Given the description of an element on the screen output the (x, y) to click on. 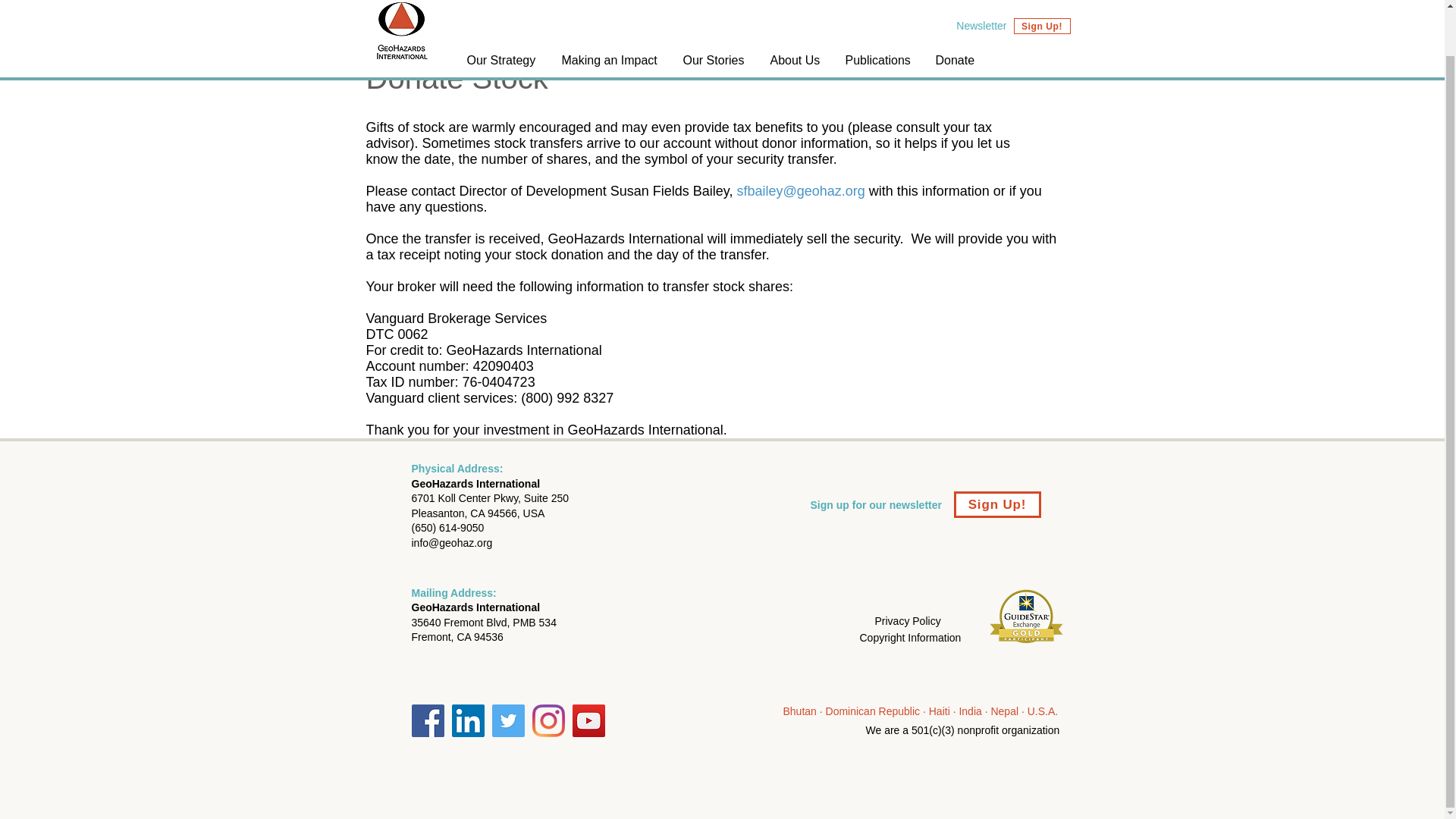
goldstar.gif (1026, 616)
Publications (877, 14)
